Given the description of an element on the screen output the (x, y) to click on. 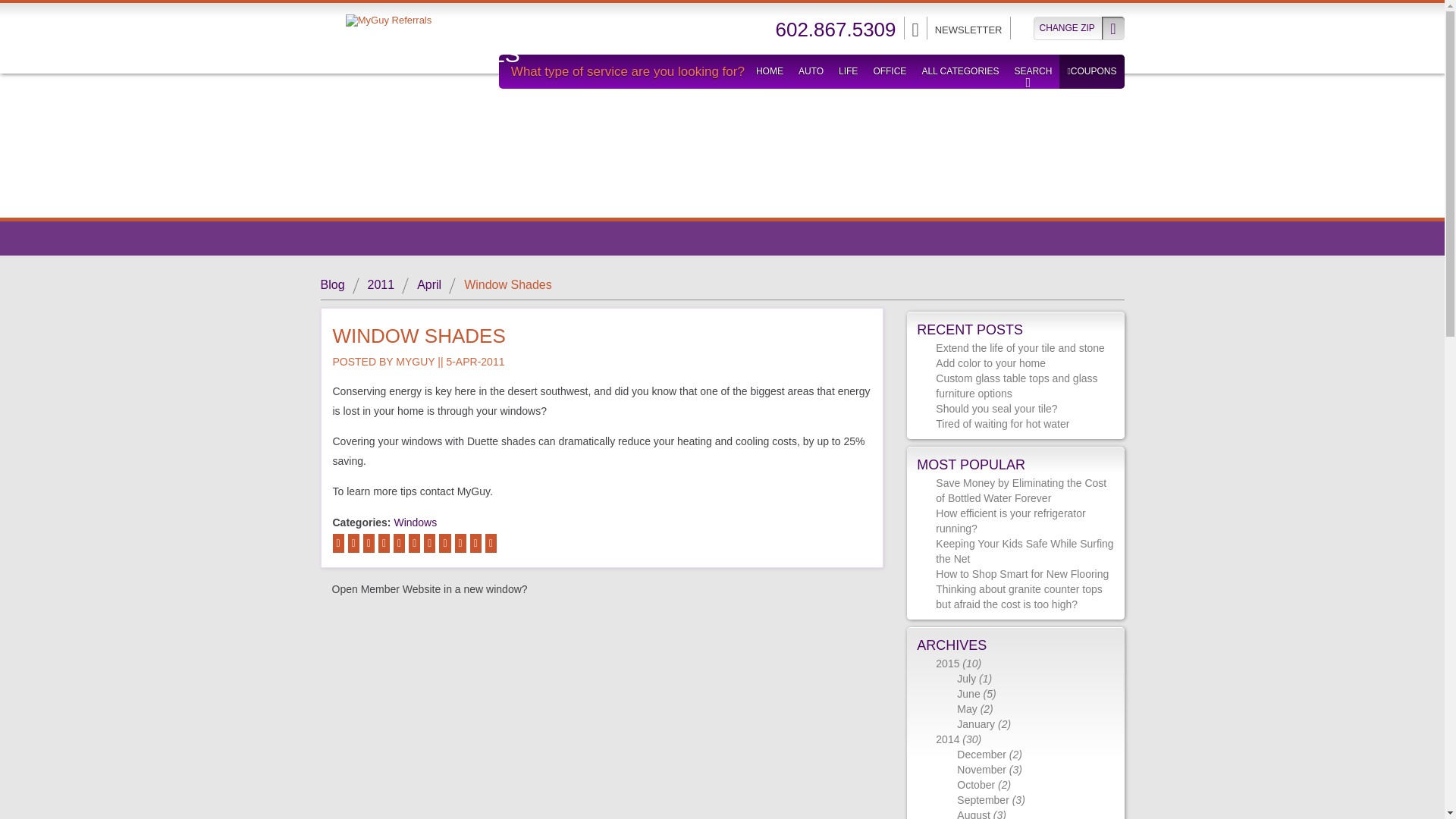
Change Zip (1078, 28)
ALL CATEGORIES (959, 71)
SEARCH (1032, 71)
NEWSLETTER (968, 30)
COUPONS (1091, 71)
OFFICE (888, 71)
602.867.5309 (834, 29)
